Given the description of an element on the screen output the (x, y) to click on. 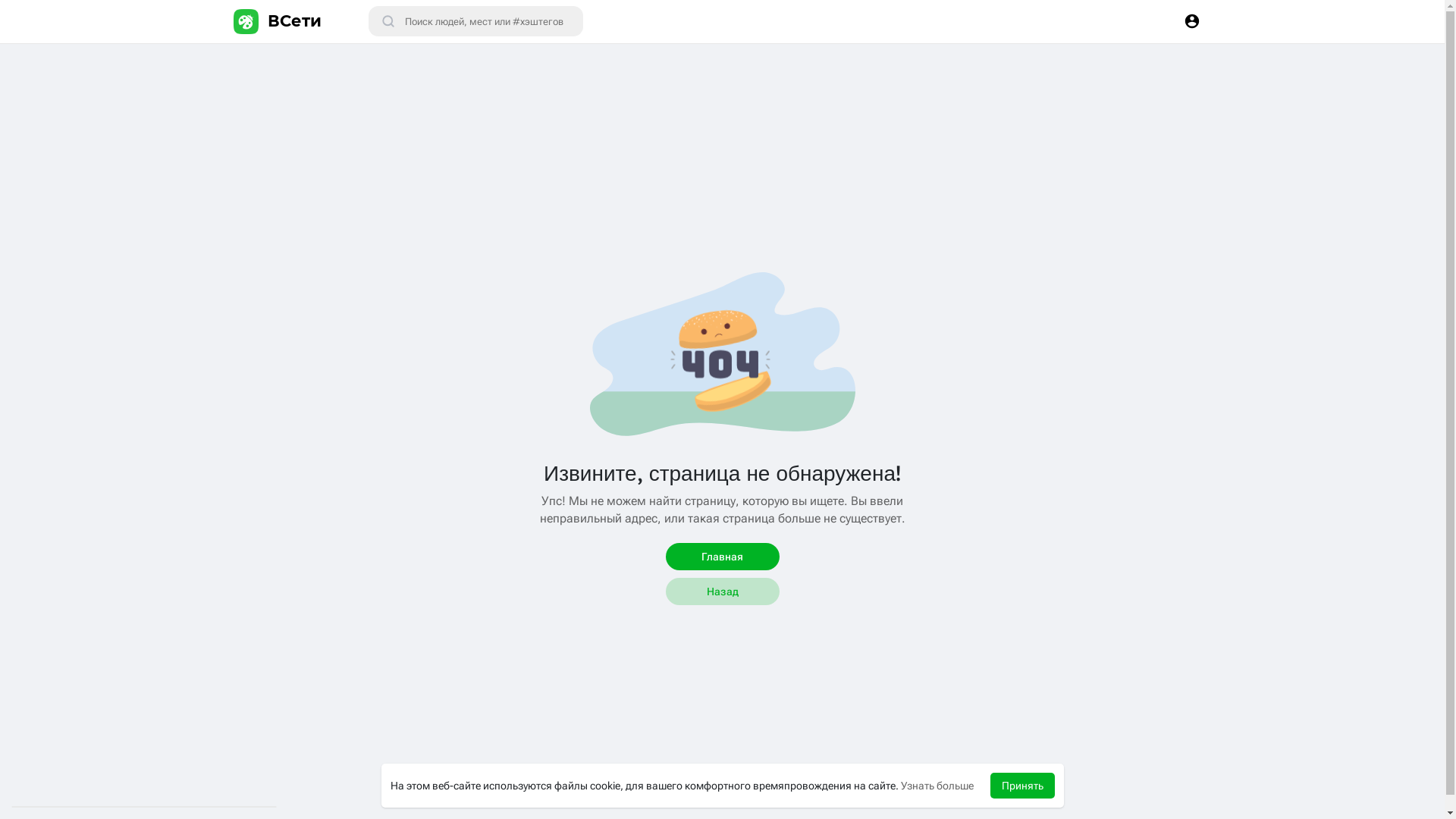
chat Element type: text (558, 393)
